Given the description of an element on the screen output the (x, y) to click on. 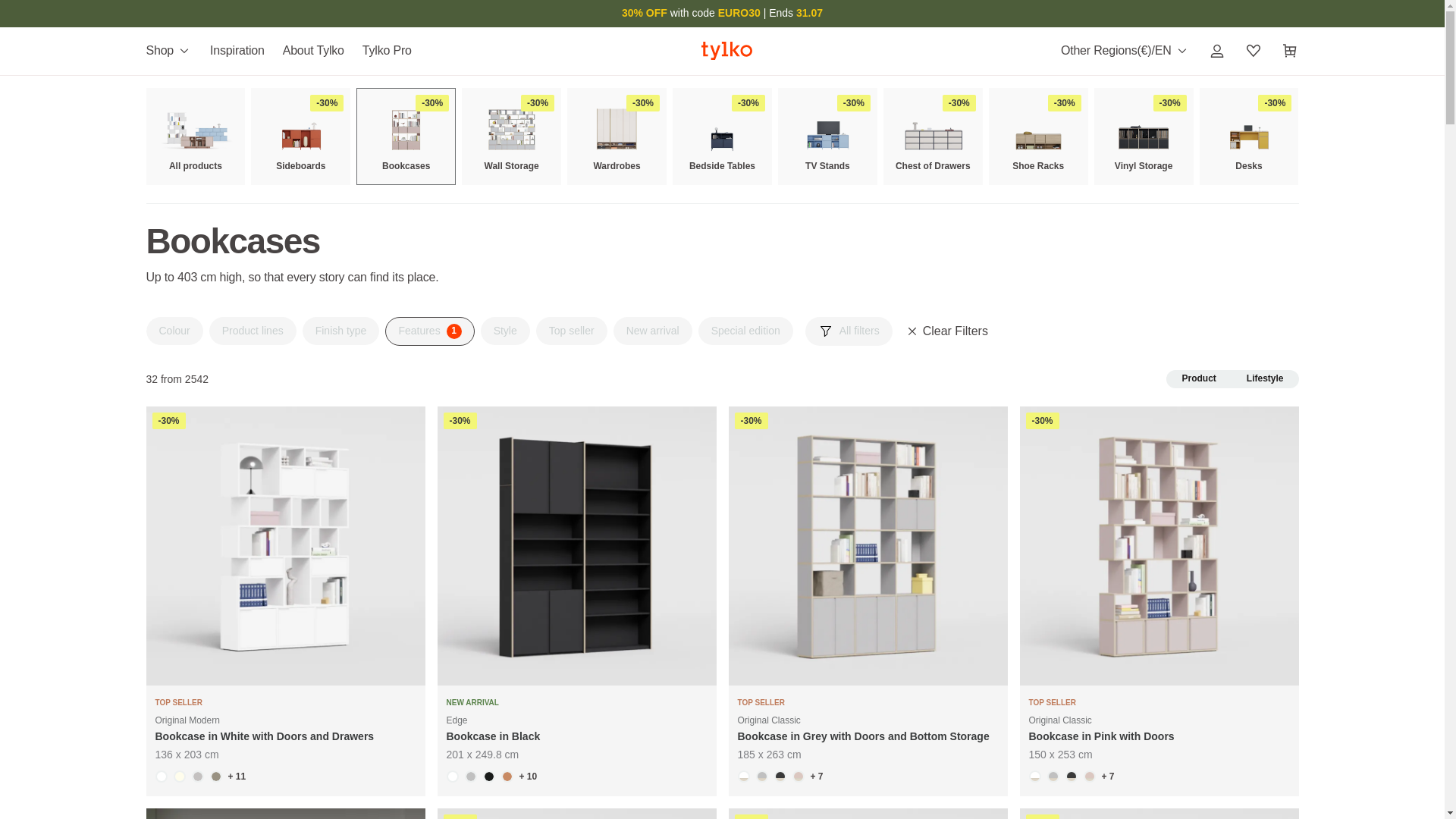
Inspiration (236, 51)
About Tylko (313, 51)
Tylko Pro (386, 51)
Shop (172, 50)
